Given the description of an element on the screen output the (x, y) to click on. 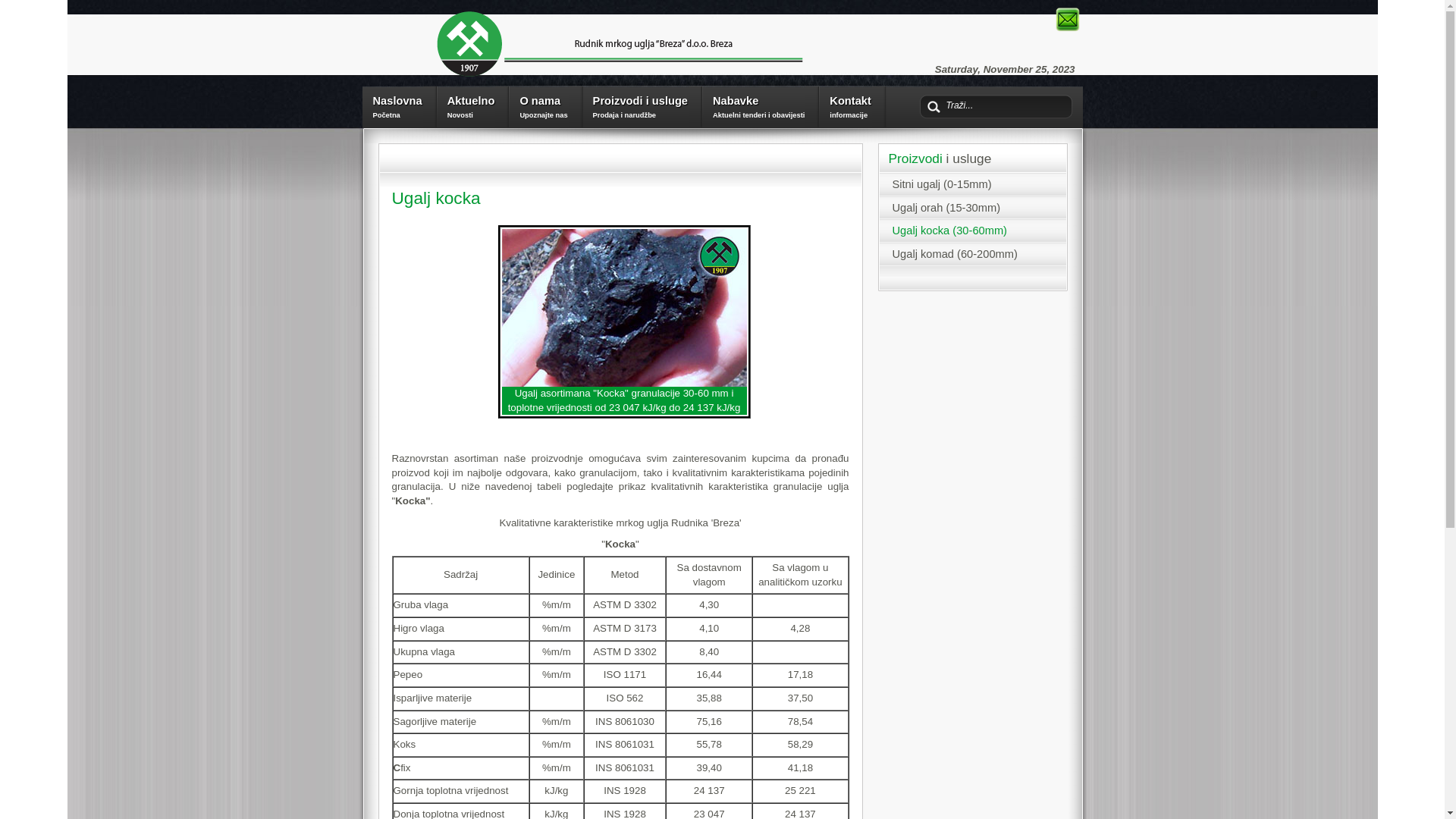
O nama
Upoznajte nas Element type: text (546, 104)
Ugalj orah (15-30mm) Element type: text (945, 207)
Kontakt
informacije Element type: text (853, 104)
Sitni ugalj (0-15mm) Element type: text (941, 184)
Ugalj kocka (30-60mm) Element type: text (949, 230)
Search Element type: text (42, 9)
Aktuelno
Novosti Element type: text (474, 104)
Ugalj komad (60-200mm) Element type: text (953, 253)
Nabavke
Aktuelni tenderi i obavijesti Element type: text (762, 104)
